Given the description of an element on the screen output the (x, y) to click on. 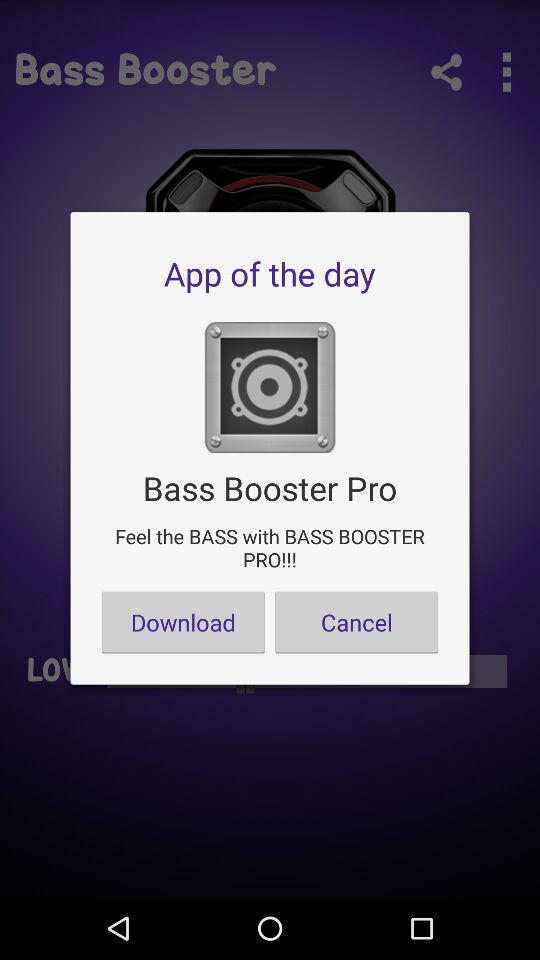
turn on the button to the right of download item (356, 622)
